Given the description of an element on the screen output the (x, y) to click on. 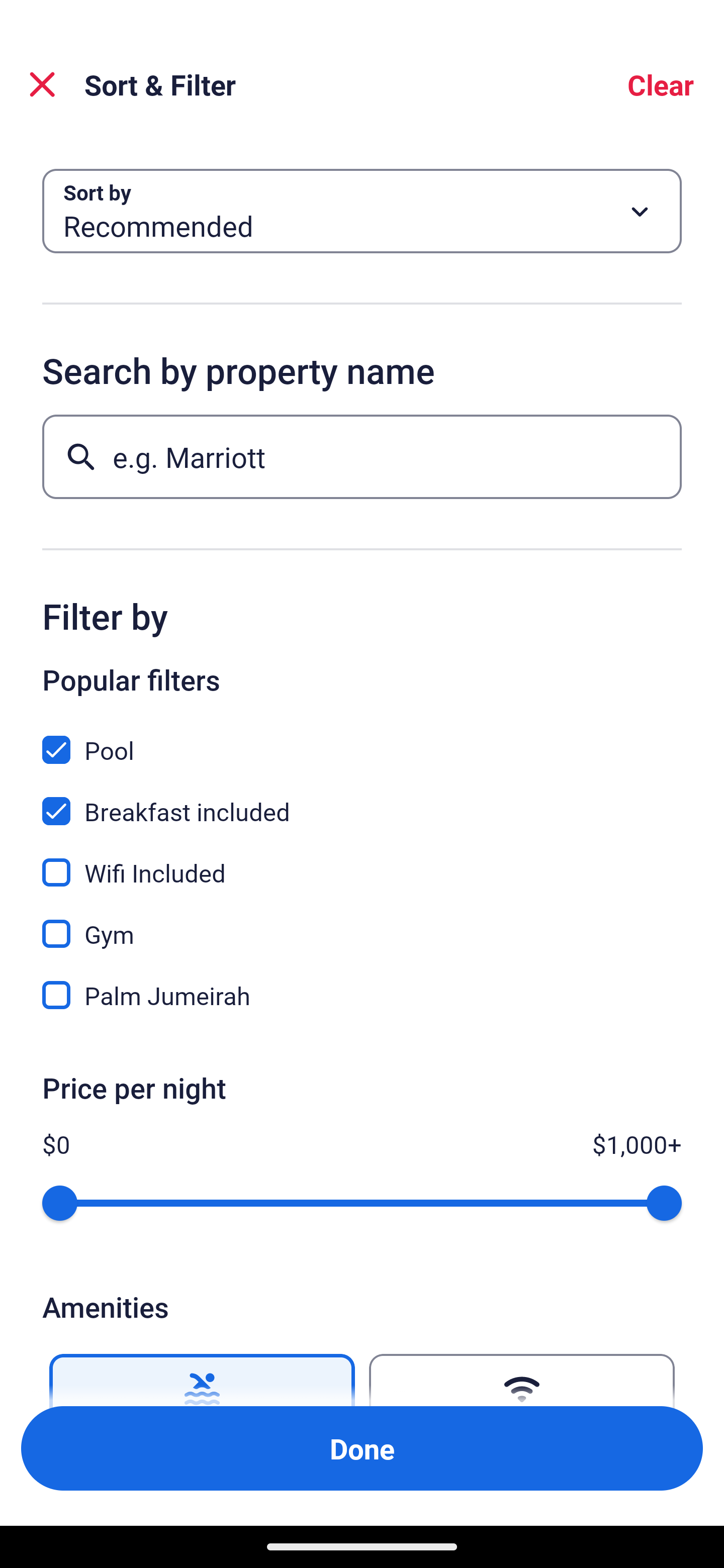
Close Sort and Filter (42, 84)
Clear (660, 84)
Sort by Button Recommended (361, 211)
e.g. Marriott Button (361, 455)
Pool, Pool (361, 738)
Breakfast included, Breakfast included (361, 800)
Wifi Included, Wifi Included (361, 861)
Gym, Gym (361, 922)
Palm Jumeirah, Palm Jumeirah (361, 995)
Apply and close Sort and Filter Done (361, 1448)
